Given the description of an element on the screen output the (x, y) to click on. 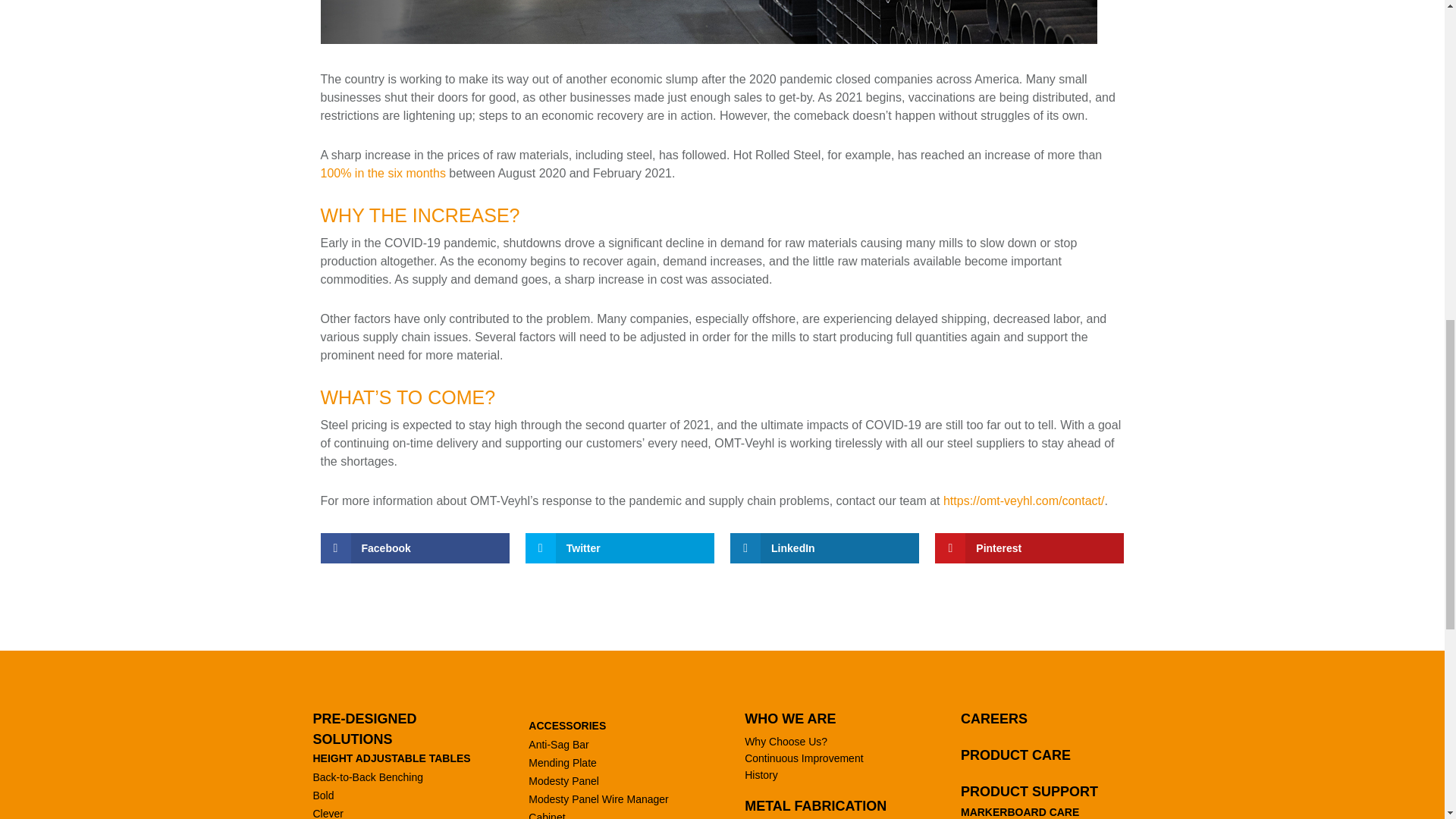
Pinterest (1029, 548)
Facebook (414, 548)
Twitter (619, 548)
LinkedIn (824, 548)
